Given the description of an element on the screen output the (x, y) to click on. 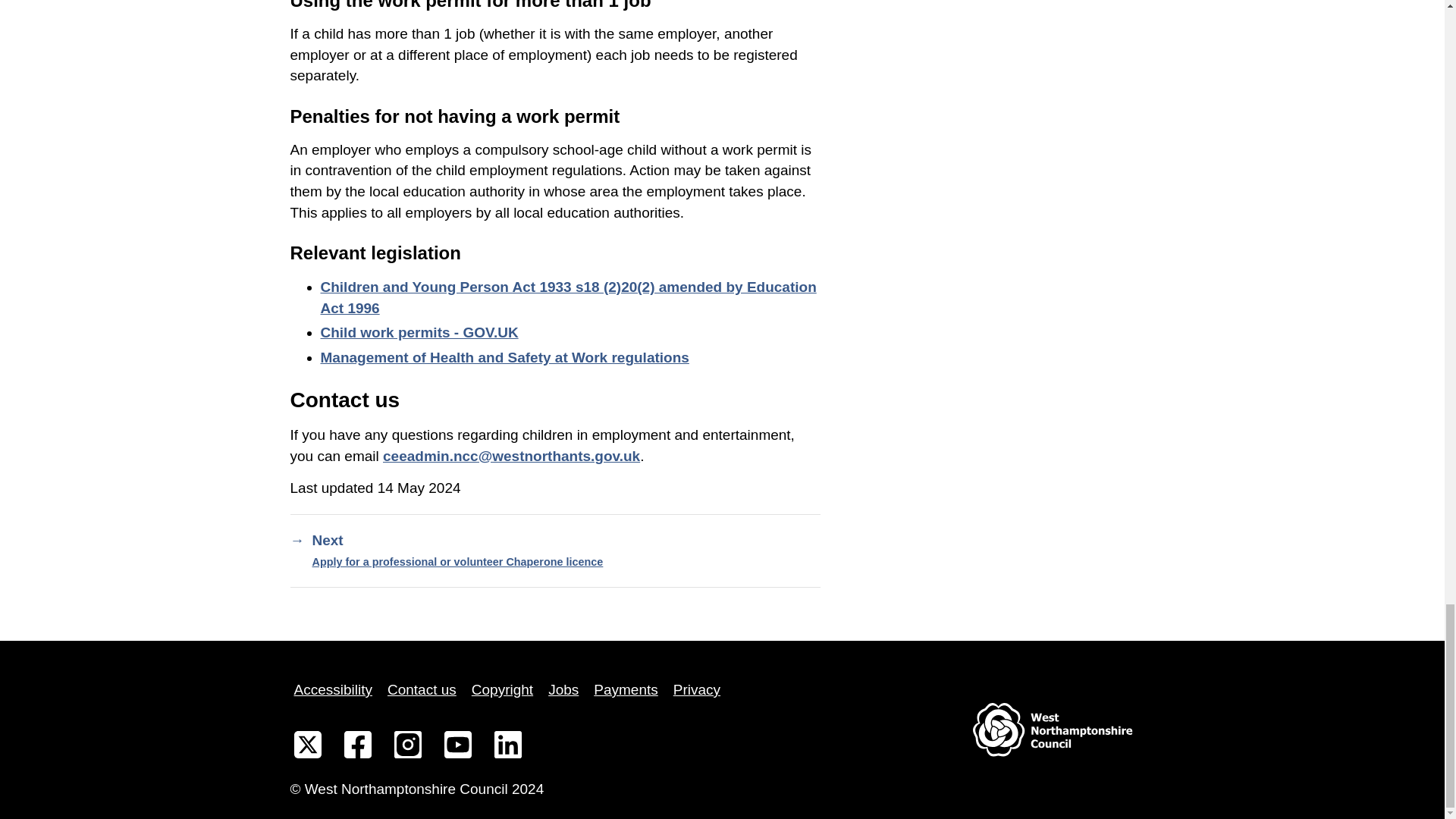
Payments (625, 689)
Accessibility (332, 689)
Jobs (563, 689)
View our YouTube channel (456, 747)
Accessibility (332, 689)
Copyright (502, 689)
Management of Health and Safety at Work regulations (504, 357)
View our LinkedIn page (506, 747)
Child work permits - GOV.UK (419, 332)
View our Instagram feed (407, 747)
Contact us (422, 689)
Privacy (696, 689)
Payments (625, 689)
Privacy (696, 689)
Jobs (563, 689)
